Given the description of an element on the screen output the (x, y) to click on. 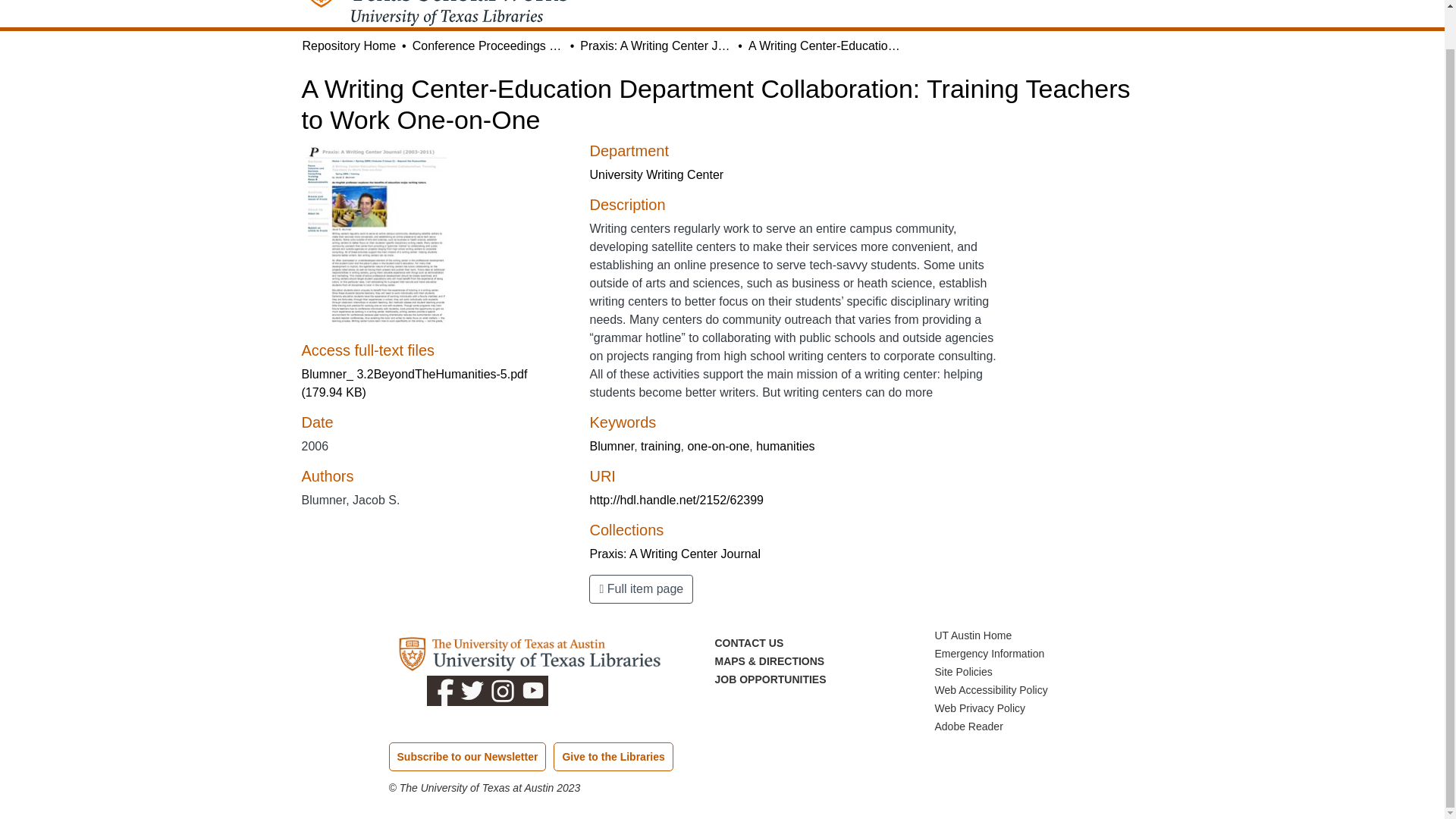
CONTACT US (748, 643)
Language switch (1079, 1)
Praxis: A Writing Center Journal (674, 553)
Praxis: A Writing Center Journal (655, 45)
training (659, 445)
Repository Home (348, 45)
All of TSW (822, 4)
one-on-one (718, 445)
UT Austin Home (972, 635)
Conference Proceedings and Journals (488, 45)
Search (1057, 1)
University Writing Center (656, 174)
Log In (1117, 3)
Full item page (641, 588)
Blumner (611, 445)
